Given the description of an element on the screen output the (x, y) to click on. 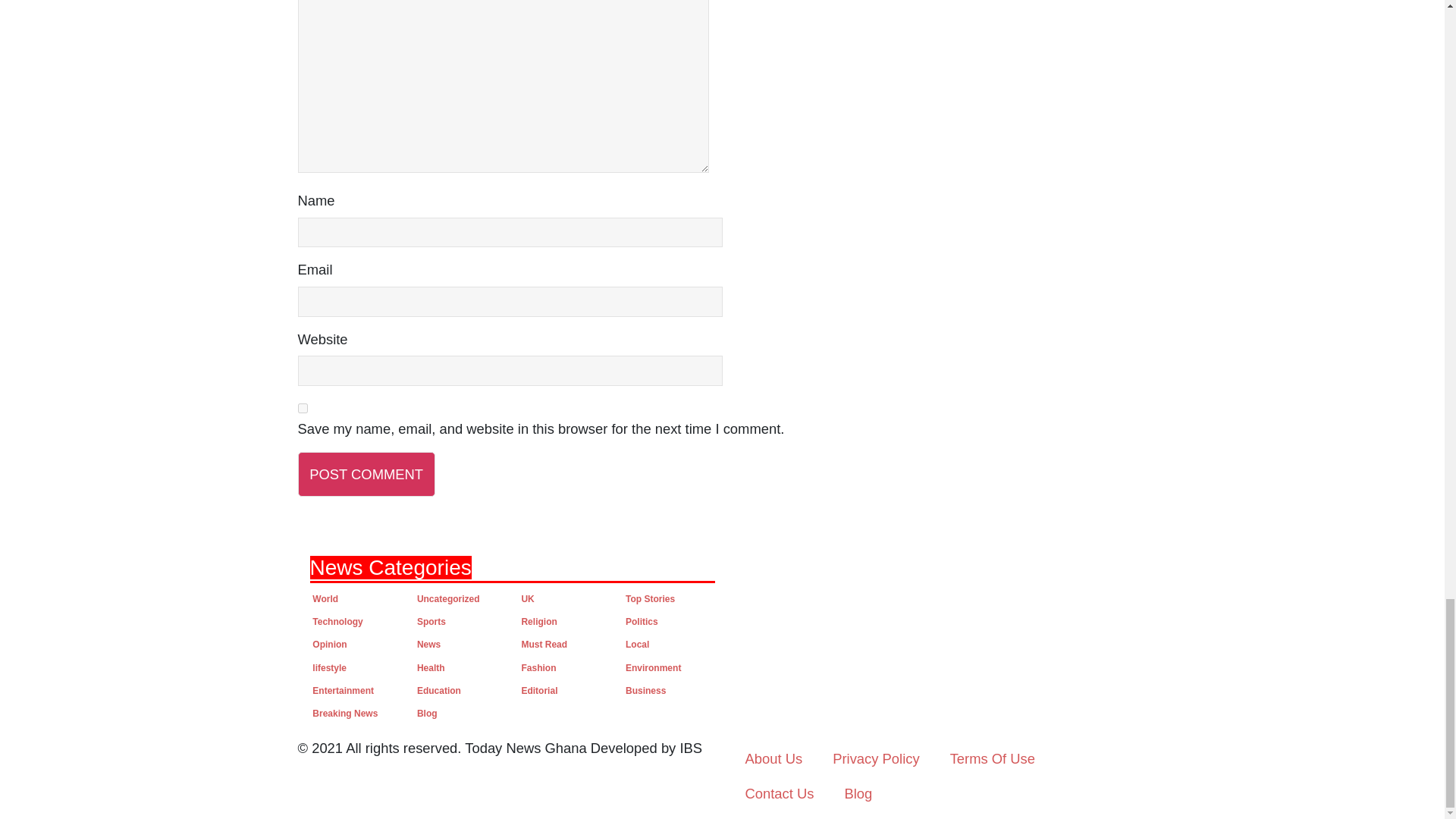
yes (302, 408)
Post Comment (365, 474)
